Given the description of an element on the screen output the (x, y) to click on. 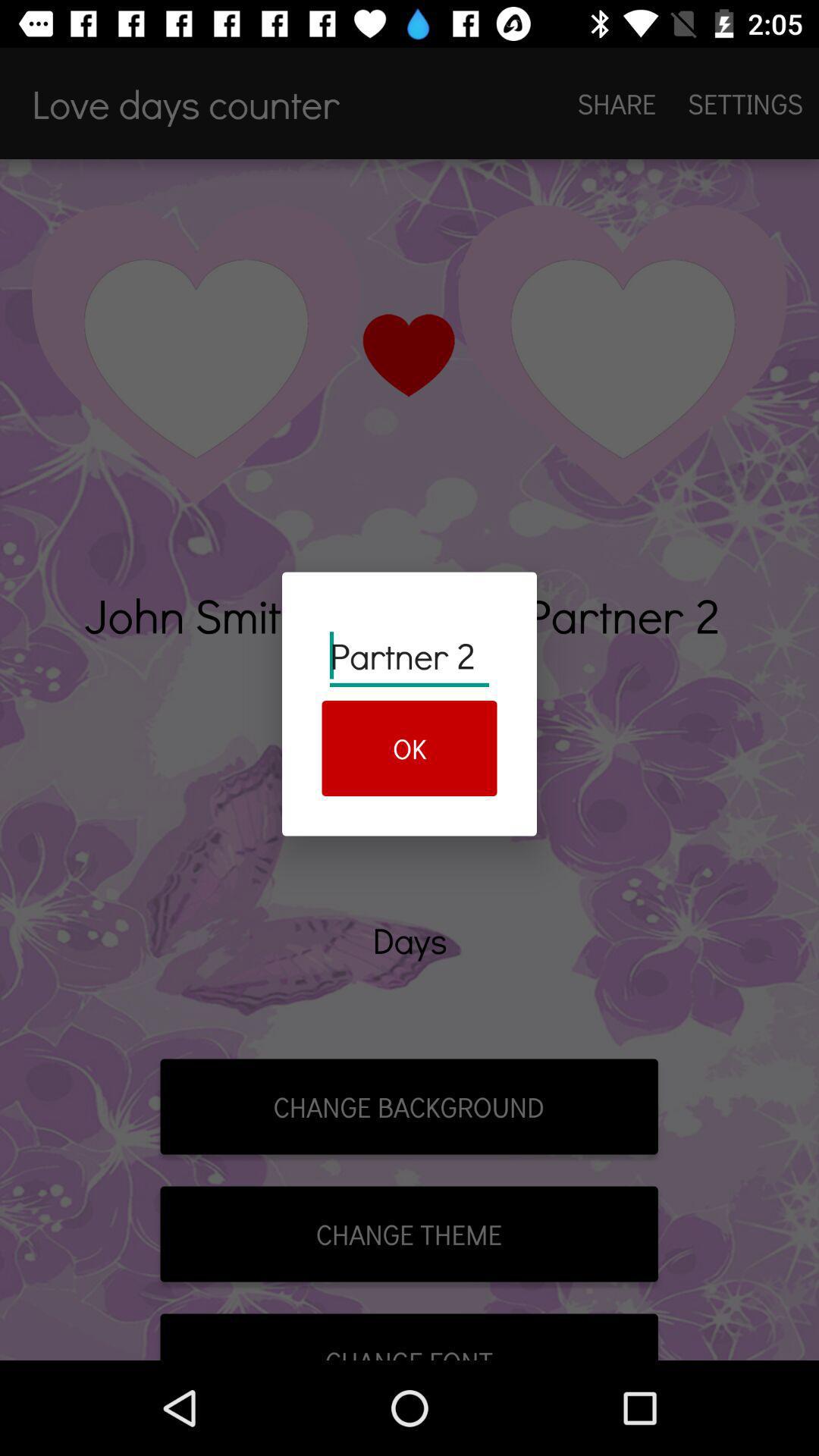
flip until ok icon (409, 748)
